Given the description of an element on the screen output the (x, y) to click on. 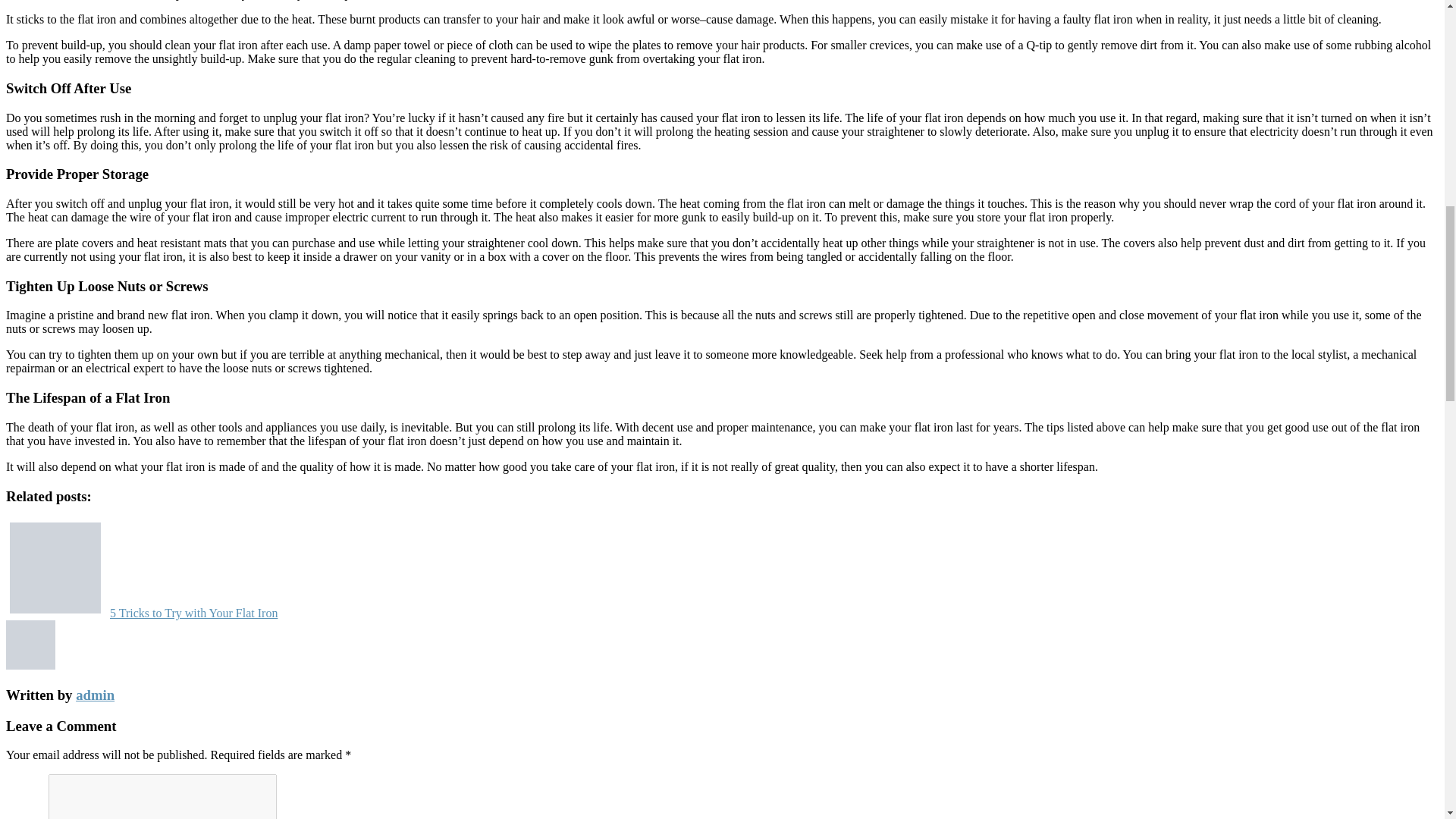
Posts by admin (95, 694)
5 Tricks to Try with Your Flat Iron (143, 612)
5 Tricks to Try with Your Flat Iron (143, 612)
admin (95, 694)
